Given the description of an element on the screen output the (x, y) to click on. 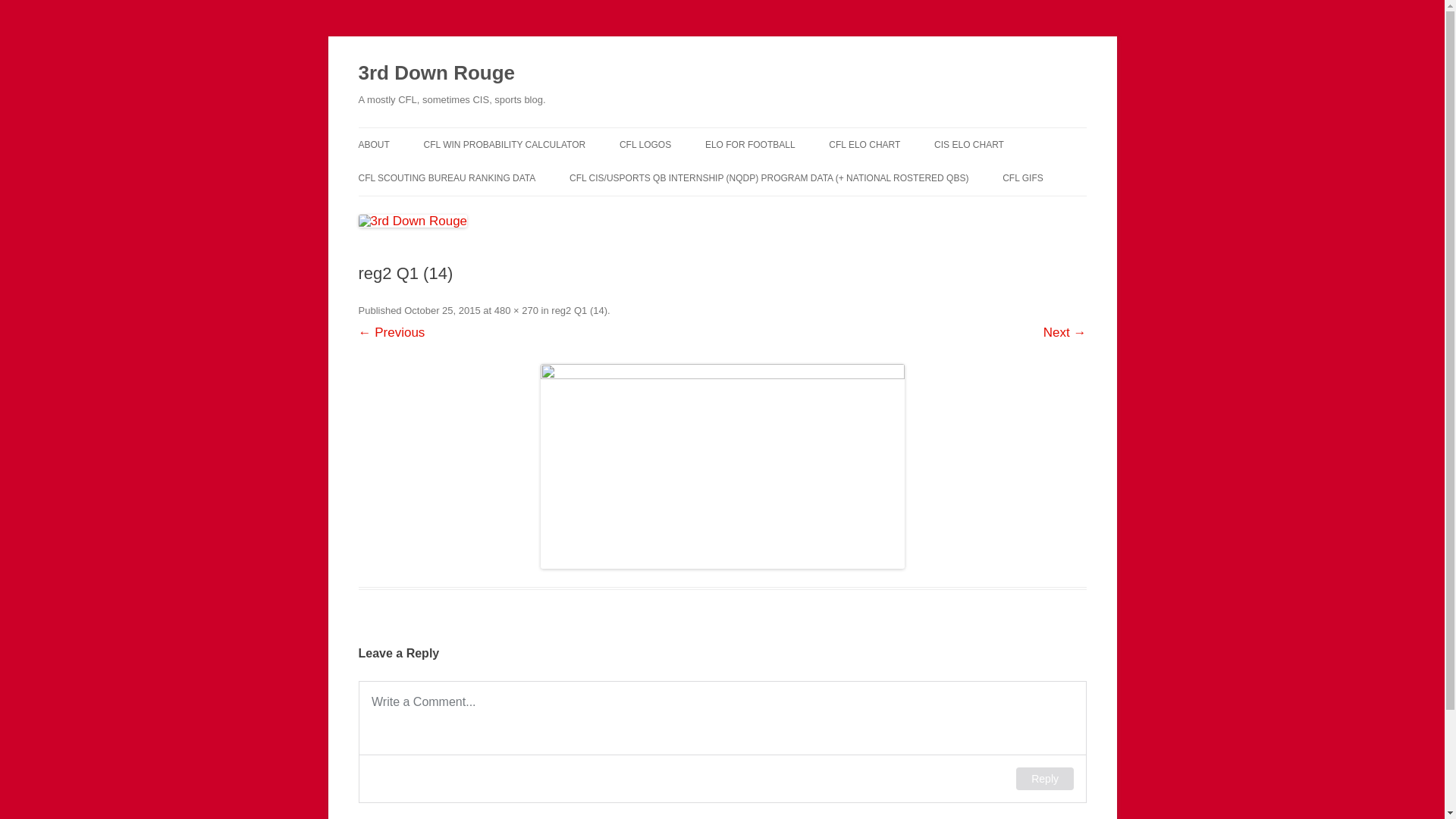
CIS ELO CHART Element type: text (969, 144)
reg2 Q1 (14) Element type: text (579, 310)
CFL LOGOS Element type: text (645, 144)
CFL GIFS Element type: text (1022, 177)
Skip to content Element type: text (721, 127)
reg2 Q1 (14) Element type: hover (721, 466)
CFL WIN PROBABILITY CALCULATOR Element type: text (504, 144)
ABOUT Element type: text (373, 144)
CFL SCOUTING BUREAU RANKING DATA Element type: text (446, 177)
Comment Form Element type: hover (721, 741)
ELO FOR FOOTBALL Element type: text (750, 144)
3rd Down Rouge Element type: text (435, 72)
CFL ELO CHART Element type: text (864, 144)
